Given the description of an element on the screen output the (x, y) to click on. 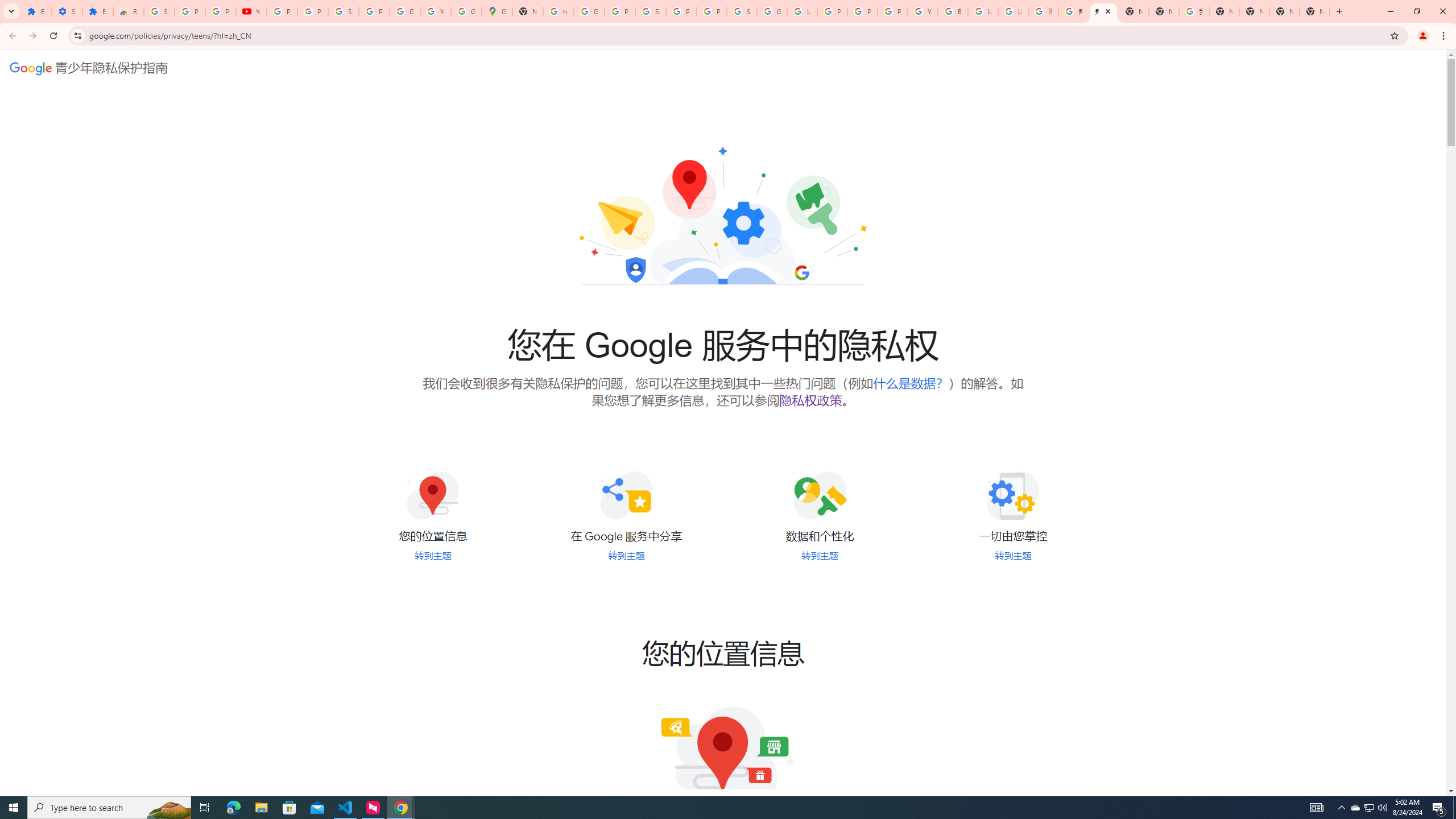
New Tab (1314, 11)
Google Maps (496, 11)
https://scholar.google.com/ (558, 11)
